Given the description of an element on the screen output the (x, y) to click on. 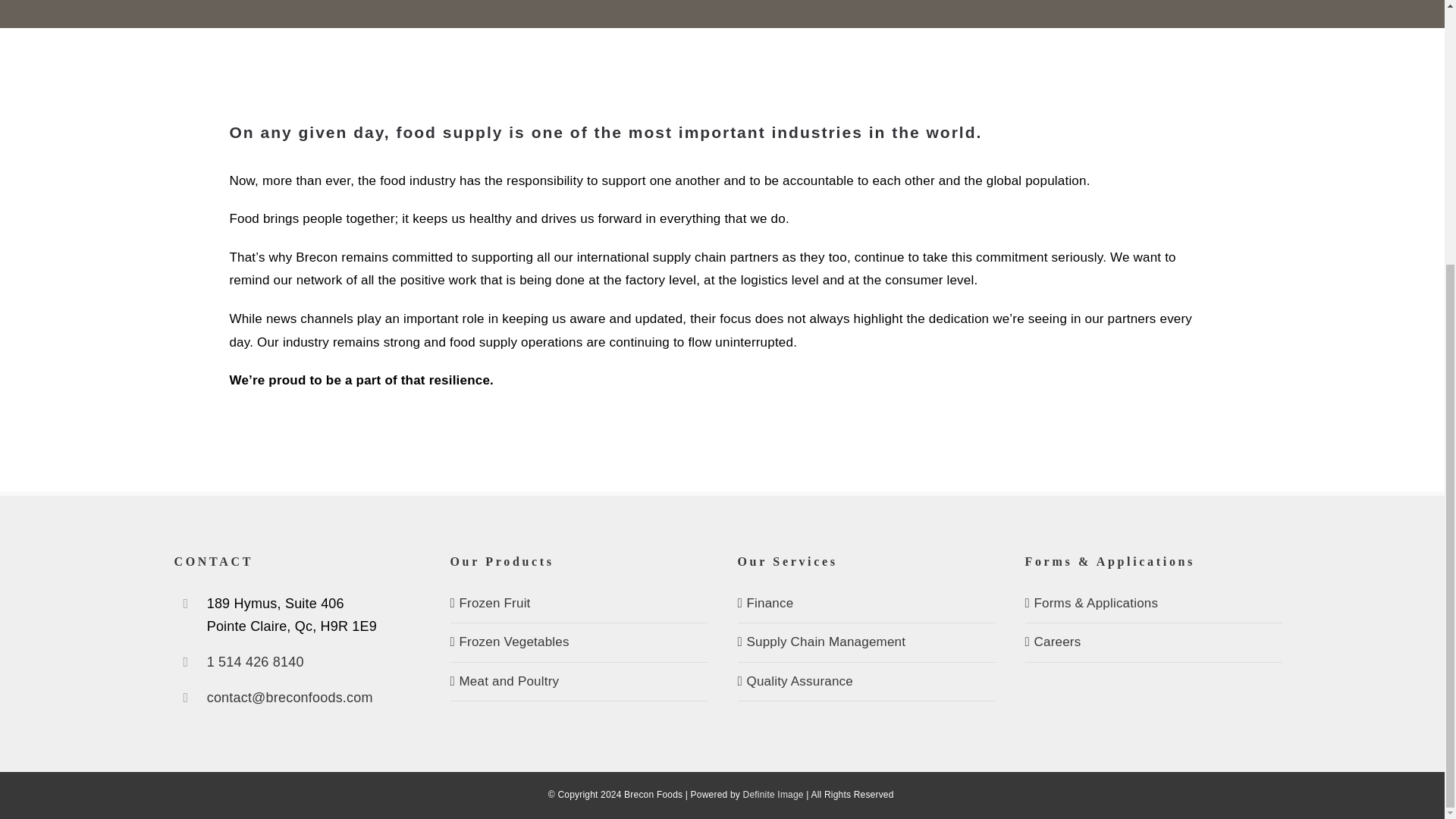
1 514 426 8140 (307, 662)
Quality Assurance (866, 681)
Careers (1154, 642)
Frozen Fruit (580, 603)
Finance (866, 603)
Supply Chain Management (866, 642)
Definite Image (772, 794)
Meat and Poultry (580, 681)
Frozen Vegetables (580, 642)
